Given the description of an element on the screen output the (x, y) to click on. 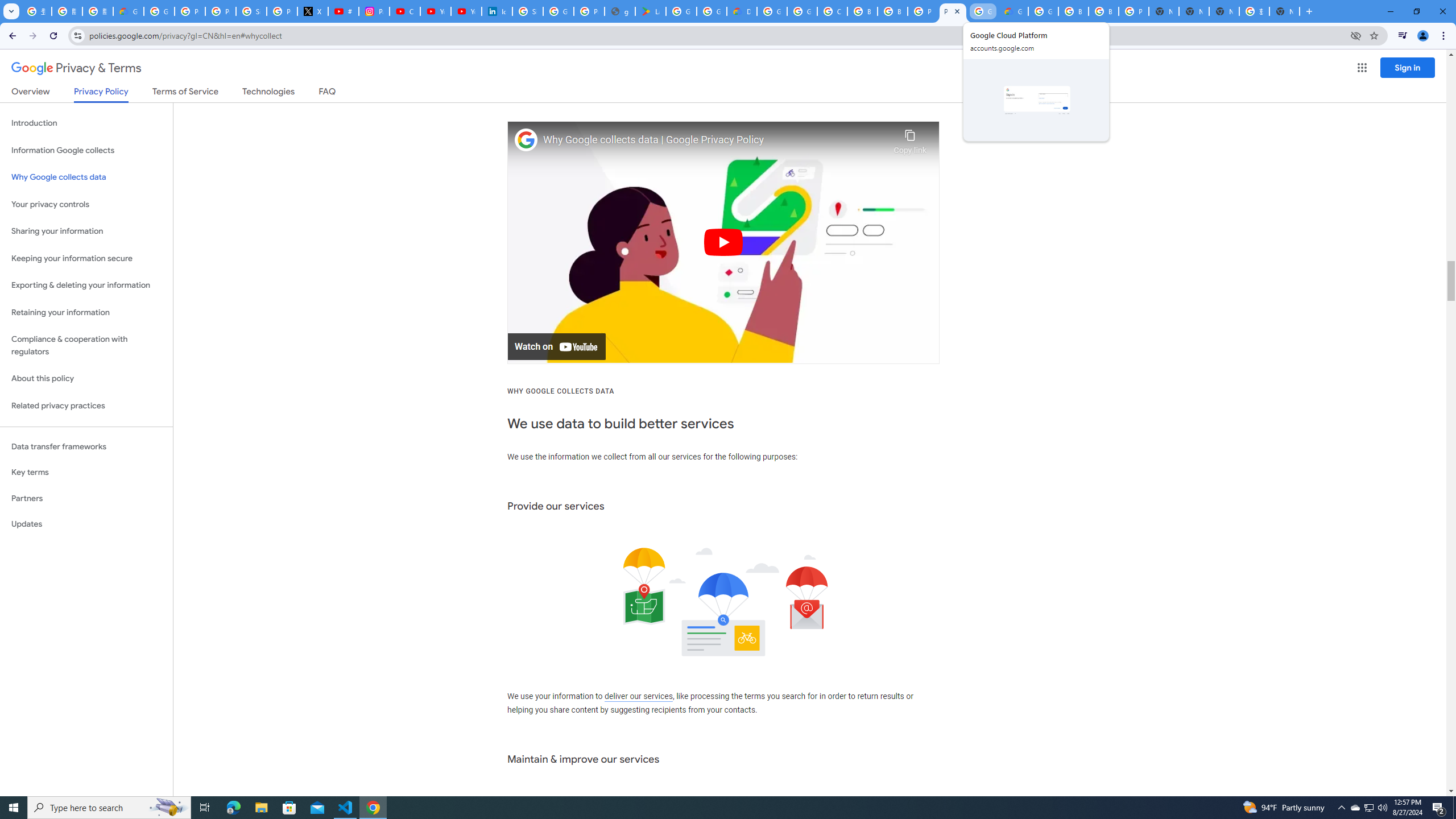
Address and search bar (715, 35)
Browse Chrome as a guest - Computer - Google Chrome Help (892, 11)
New Tab (1283, 11)
Google Cloud Platform (1042, 11)
Browse Chrome as a guest - Computer - Google Chrome Help (1103, 11)
Why Google collects data (86, 176)
Play (723, 242)
Watch on YouTube (556, 346)
Browse Chrome as a guest - Computer - Google Chrome Help (1072, 11)
Exporting & deleting your information (86, 284)
Google Cloud Platform (982, 11)
